Given the description of an element on the screen output the (x, y) to click on. 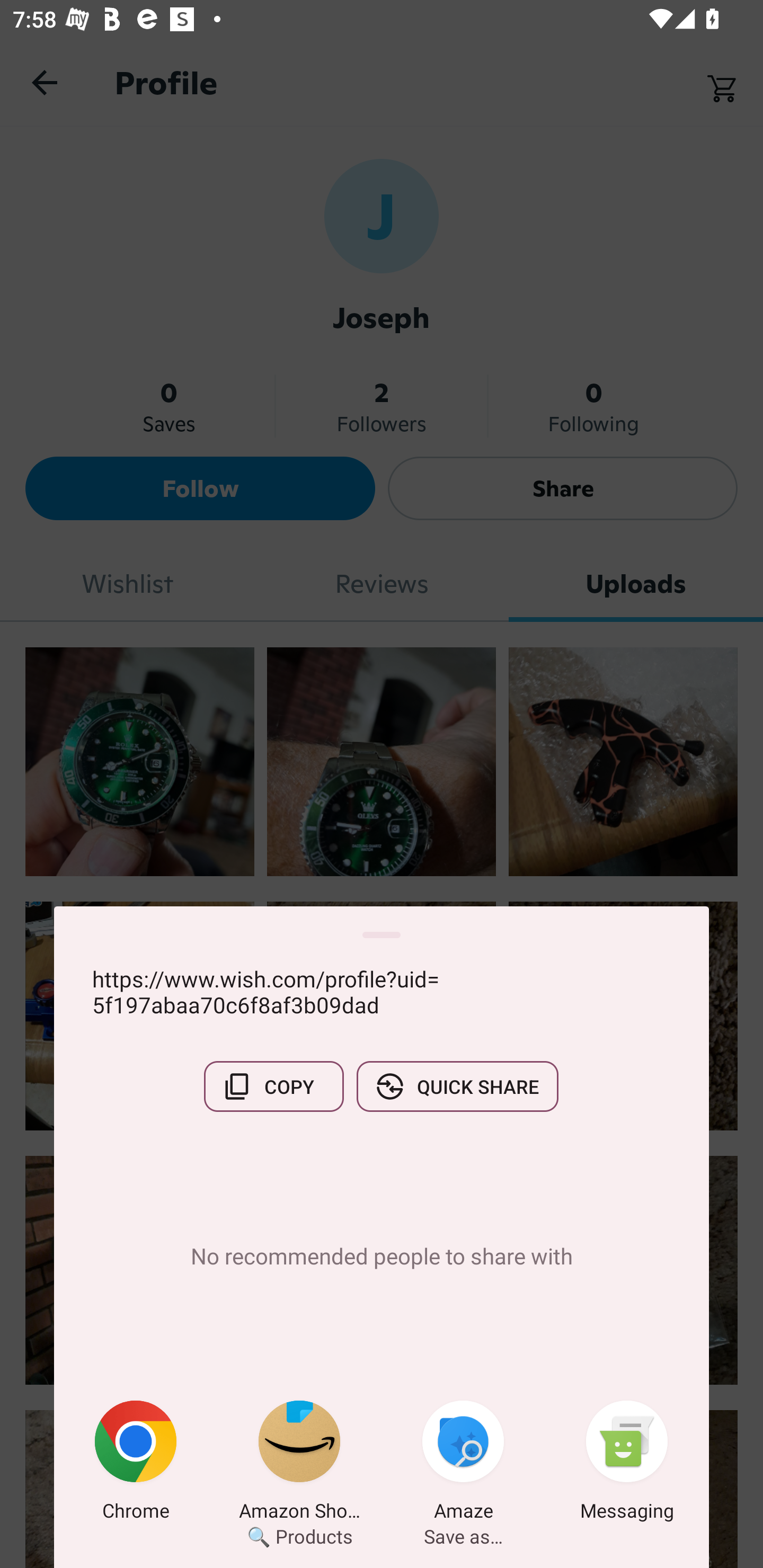
COPY (273, 1086)
QUICK SHARE (457, 1086)
Chrome (135, 1463)
Amazon Shopping 🔍 Products (299, 1463)
Amaze Save as… (463, 1463)
Messaging (626, 1463)
